Given the description of an element on the screen output the (x, y) to click on. 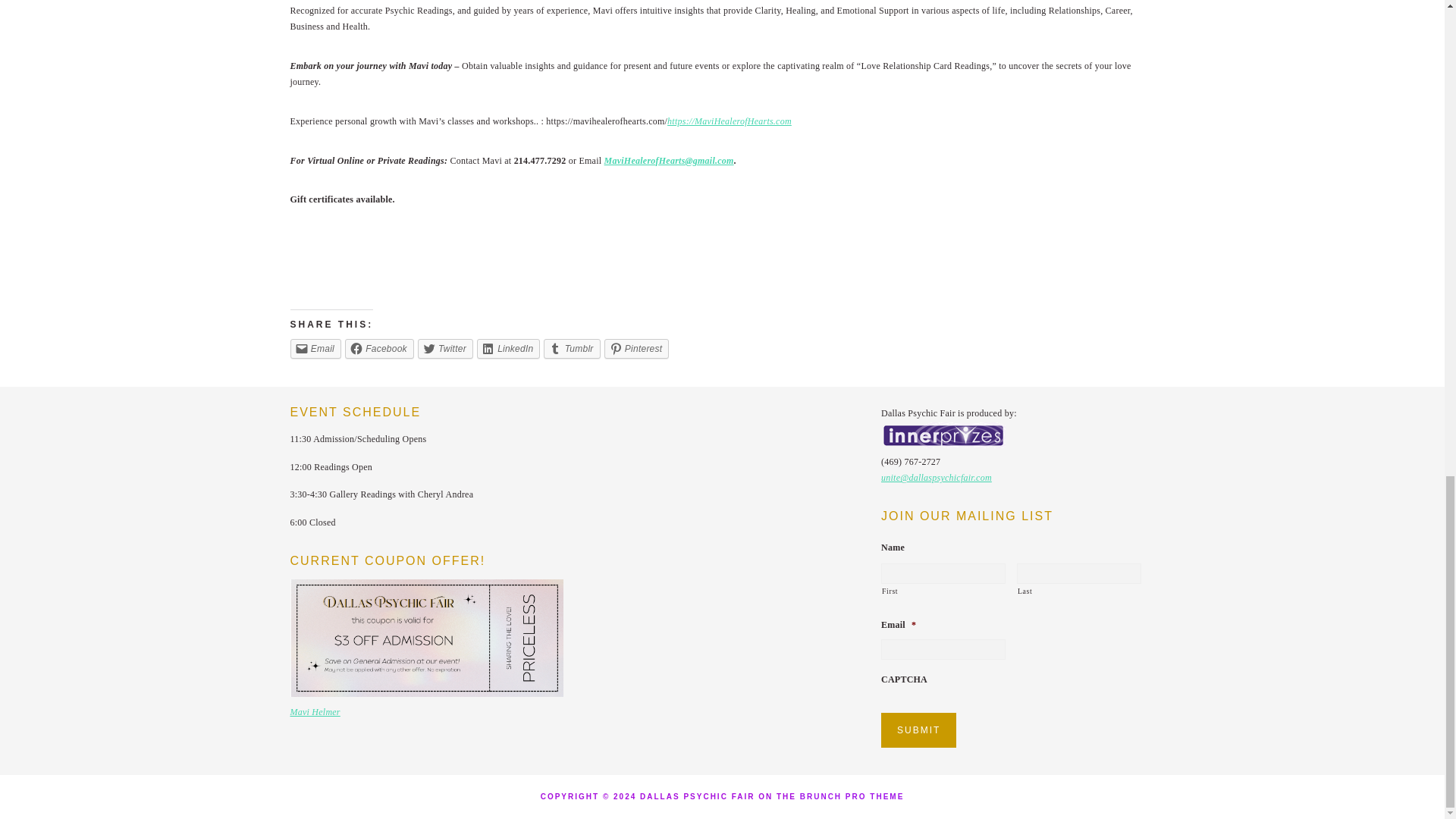
Click to share on Facebook (379, 348)
Click to email this to a friend (314, 348)
Submit (918, 729)
Click to share on LinkedIn (508, 348)
Click to share on Pinterest (636, 348)
Pinterest (636, 348)
Twitter (445, 348)
Click to share on Twitter (445, 348)
Submit (918, 729)
Tumblr (571, 348)
